Given the description of an element on the screen output the (x, y) to click on. 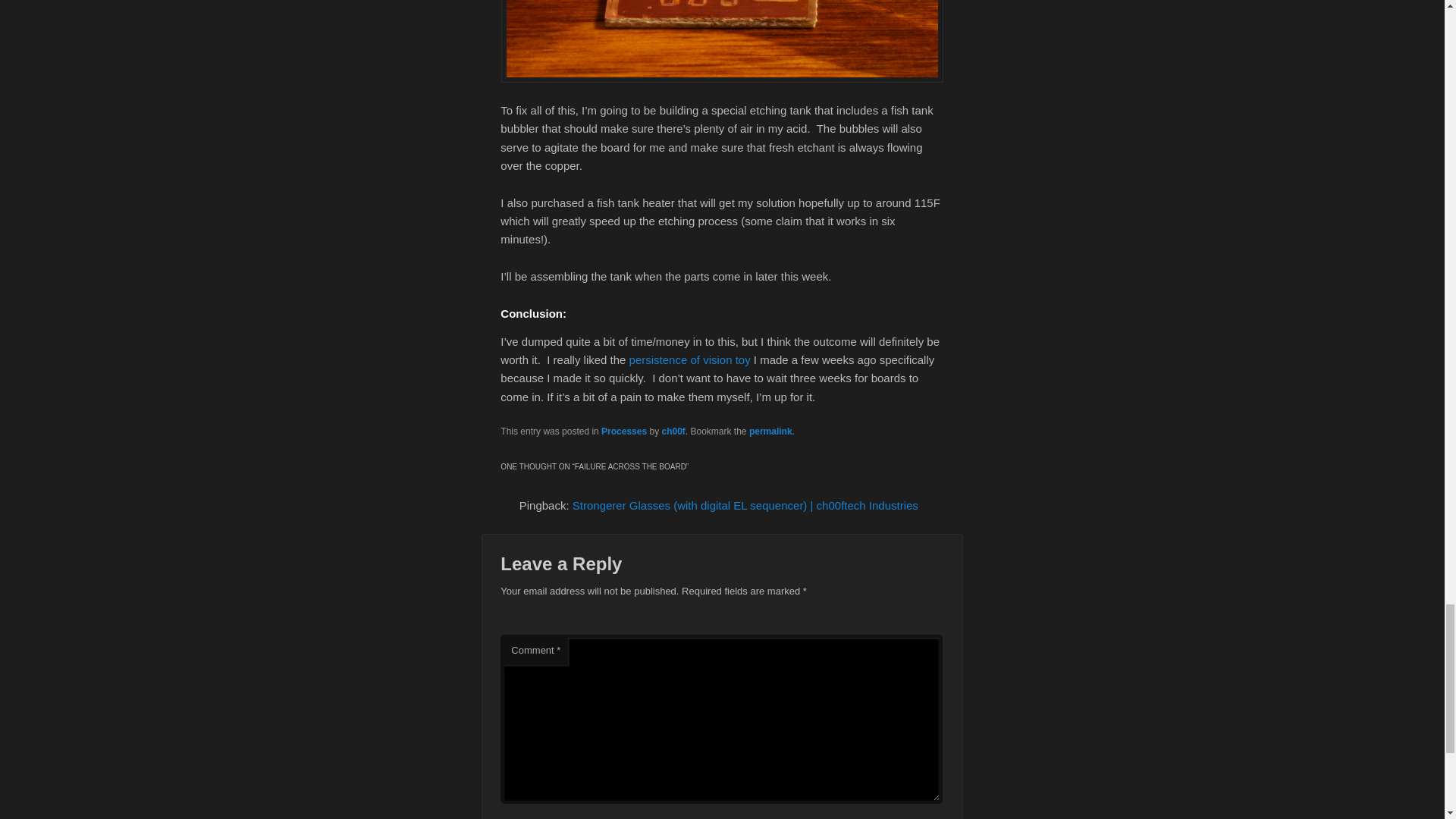
LED persistence of vision toy (689, 359)
ch00f (672, 430)
Processes (623, 430)
Permalink to Failure Across the Board (770, 430)
persistence of vision toy (689, 359)
permalink (770, 430)
